Given the description of an element on the screen output the (x, y) to click on. 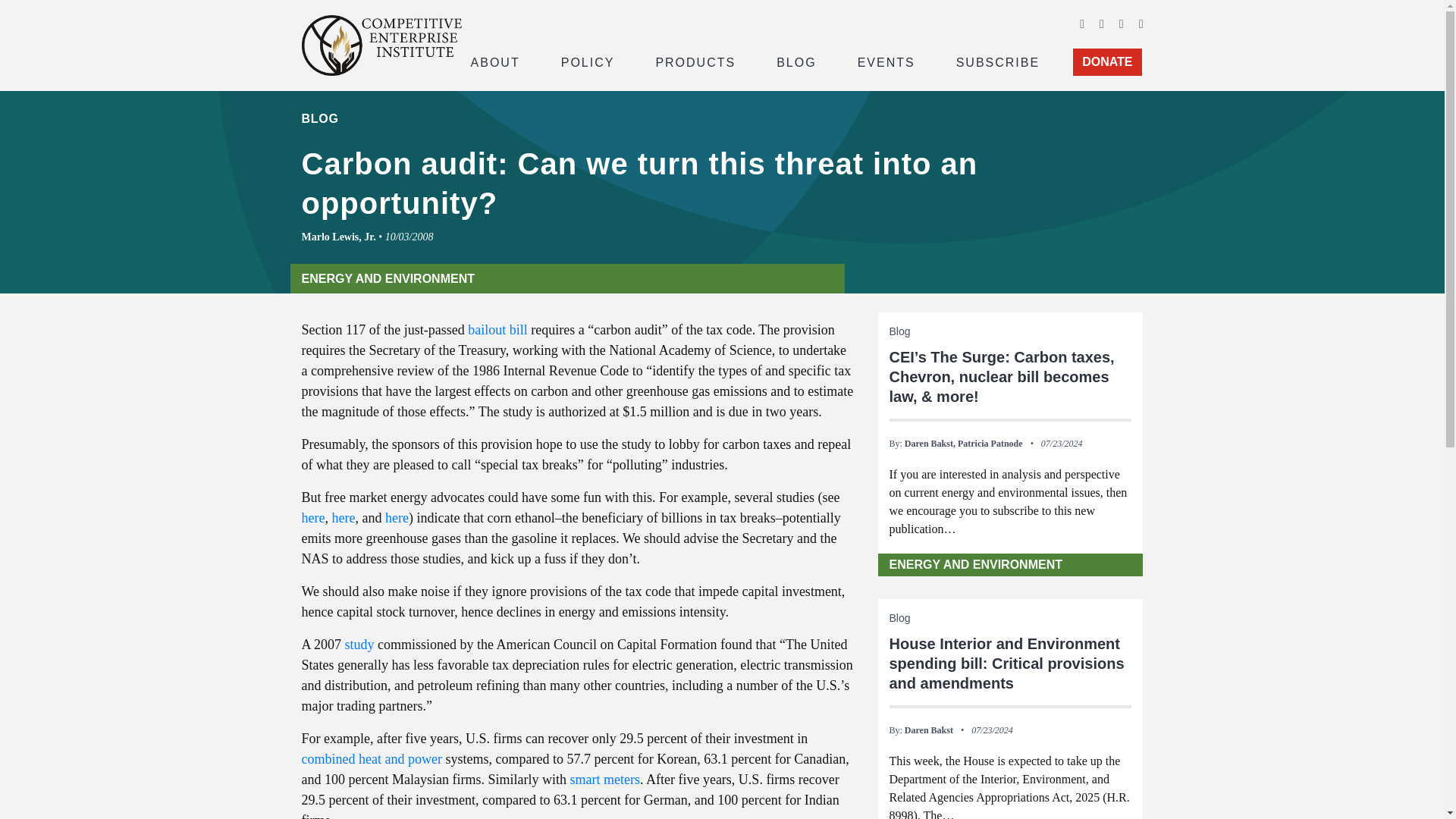
SUBSCRIBE (997, 61)
PRODUCTS (694, 61)
EVENTS (886, 61)
BLOG (796, 61)
DONATE (1107, 62)
POLICY (588, 61)
ABOUT (495, 61)
